Given the description of an element on the screen output the (x, y) to click on. 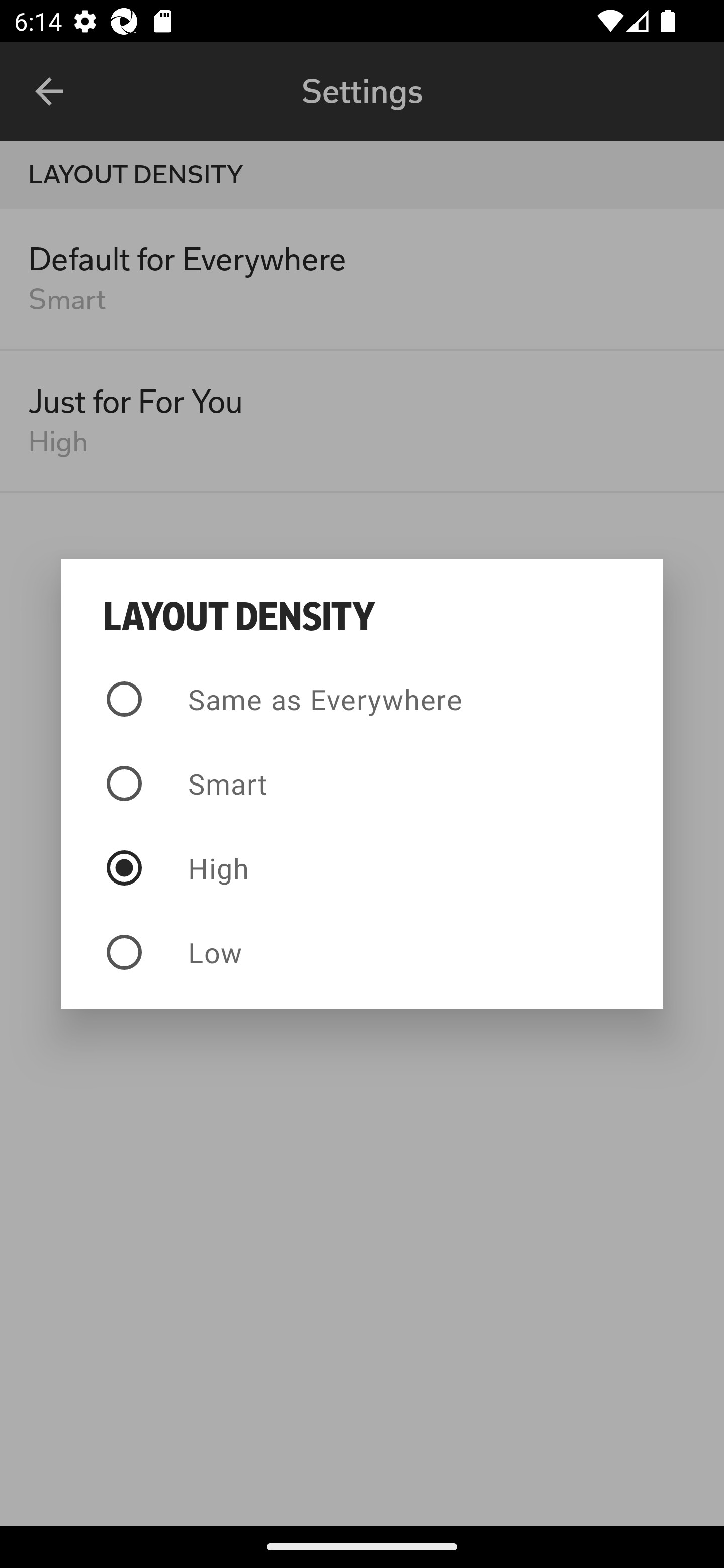
Same as Everywhere (361, 698)
Smart (361, 783)
High (361, 867)
Low (361, 951)
